Given the description of an element on the screen output the (x, y) to click on. 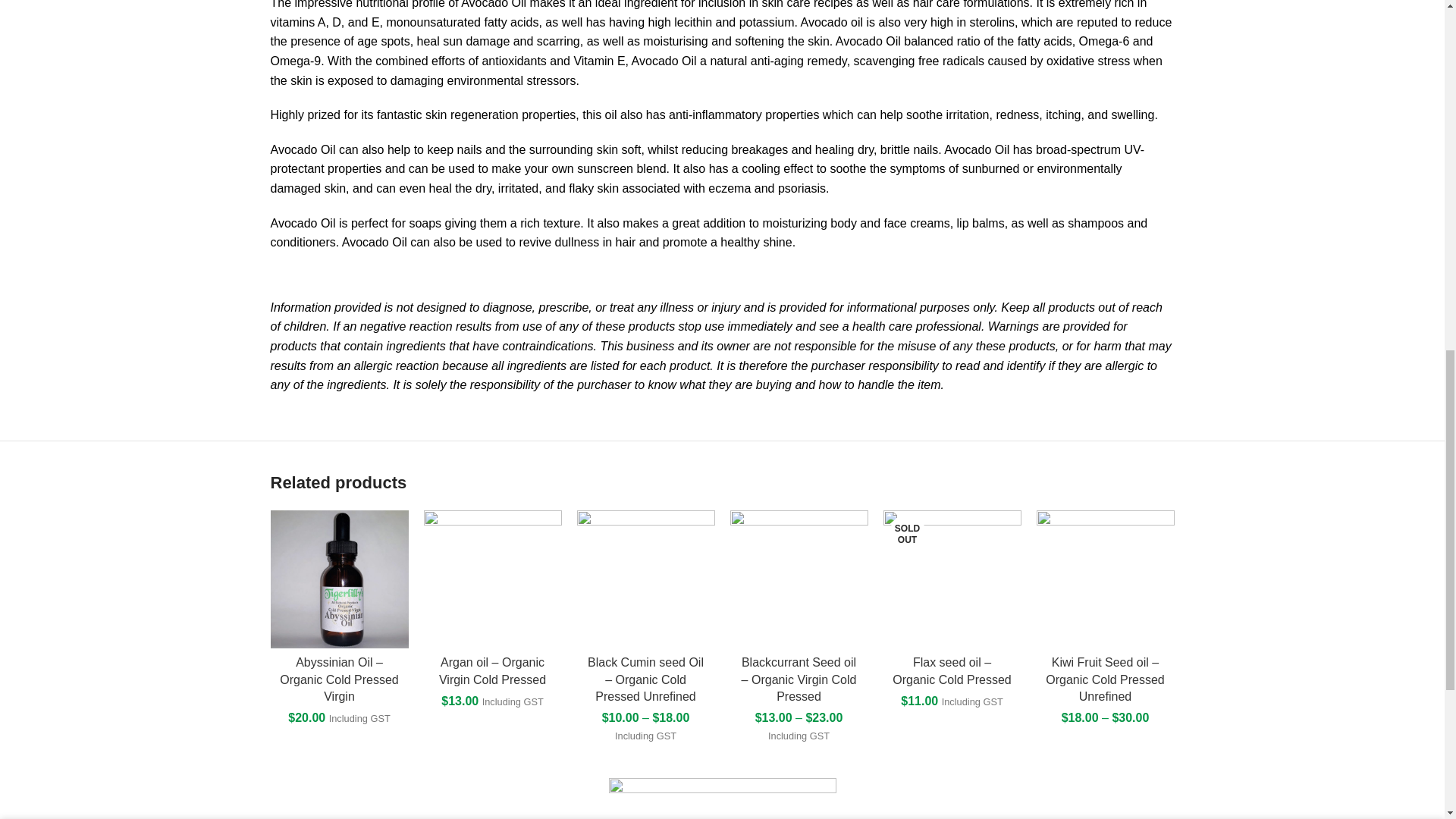
Asset 9 (721, 798)
